Given the description of an element on the screen output the (x, y) to click on. 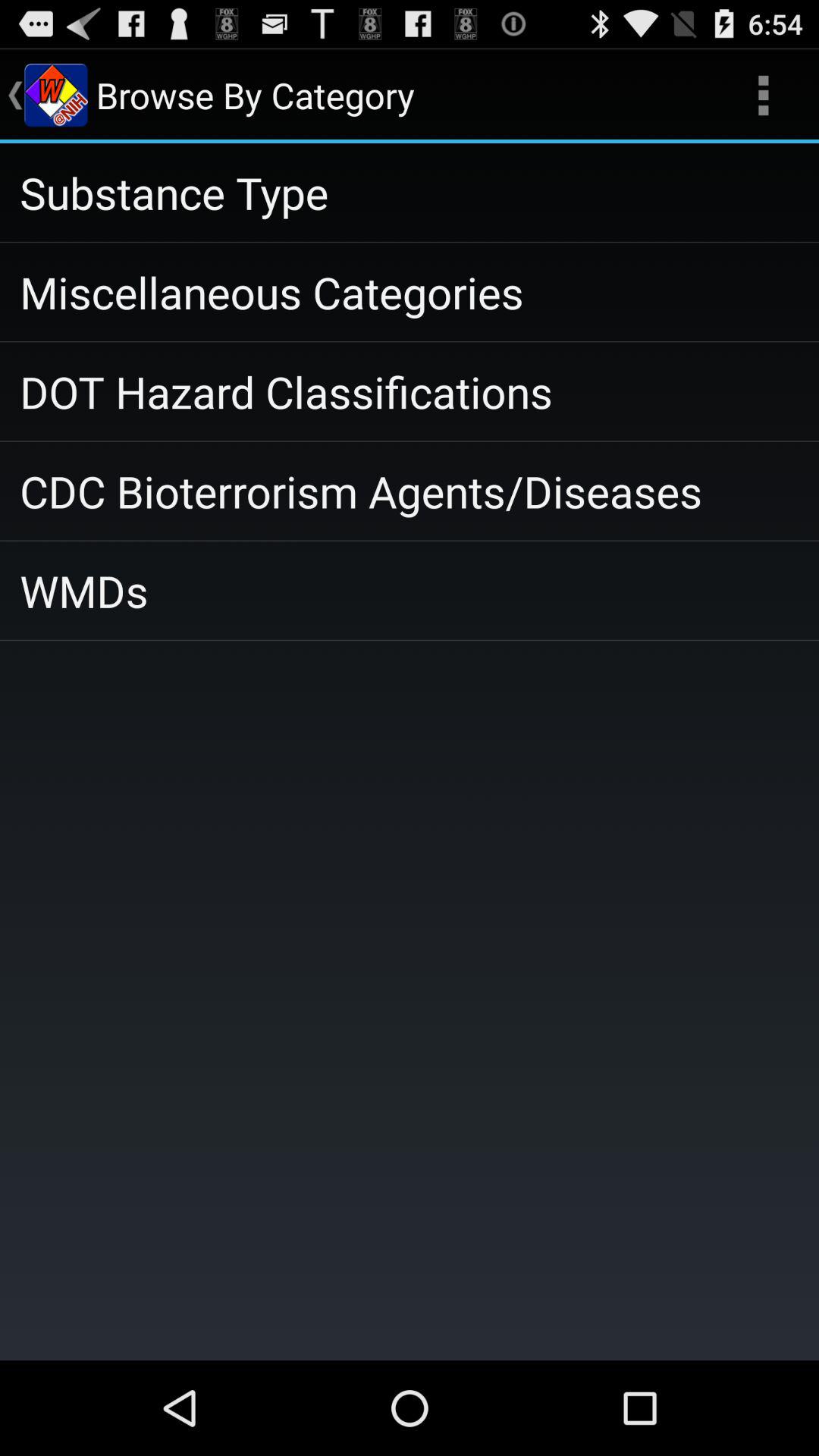
launch the app to the right of browse by category item (763, 95)
